Given the description of an element on the screen output the (x, y) to click on. 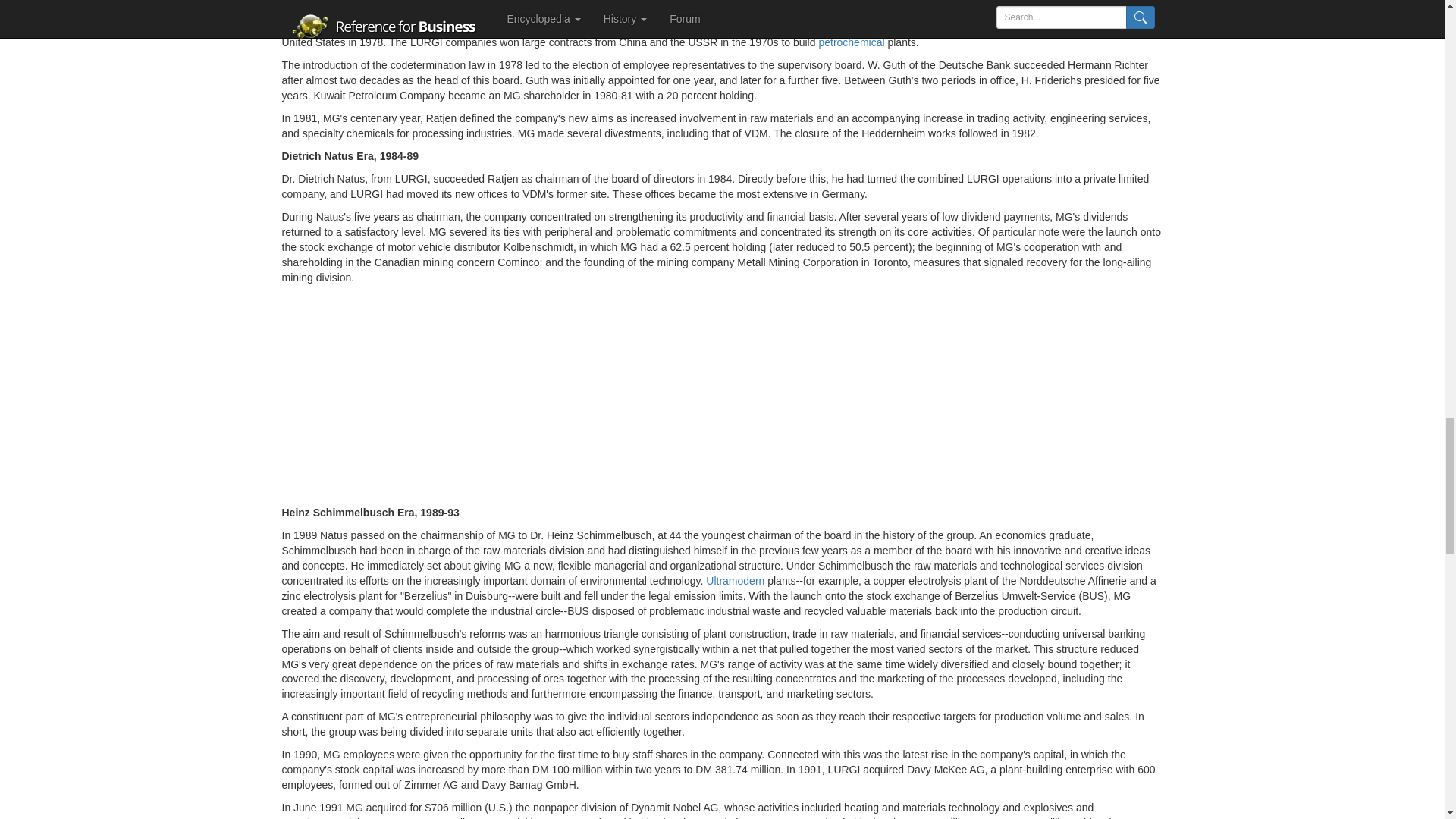
View 'ultramodern' definition from Wikipedia (735, 580)
View 'petrochemical' definition from Wikipedia (850, 42)
petrochemical (850, 42)
Ultramodern (735, 580)
